Given the description of an element on the screen output the (x, y) to click on. 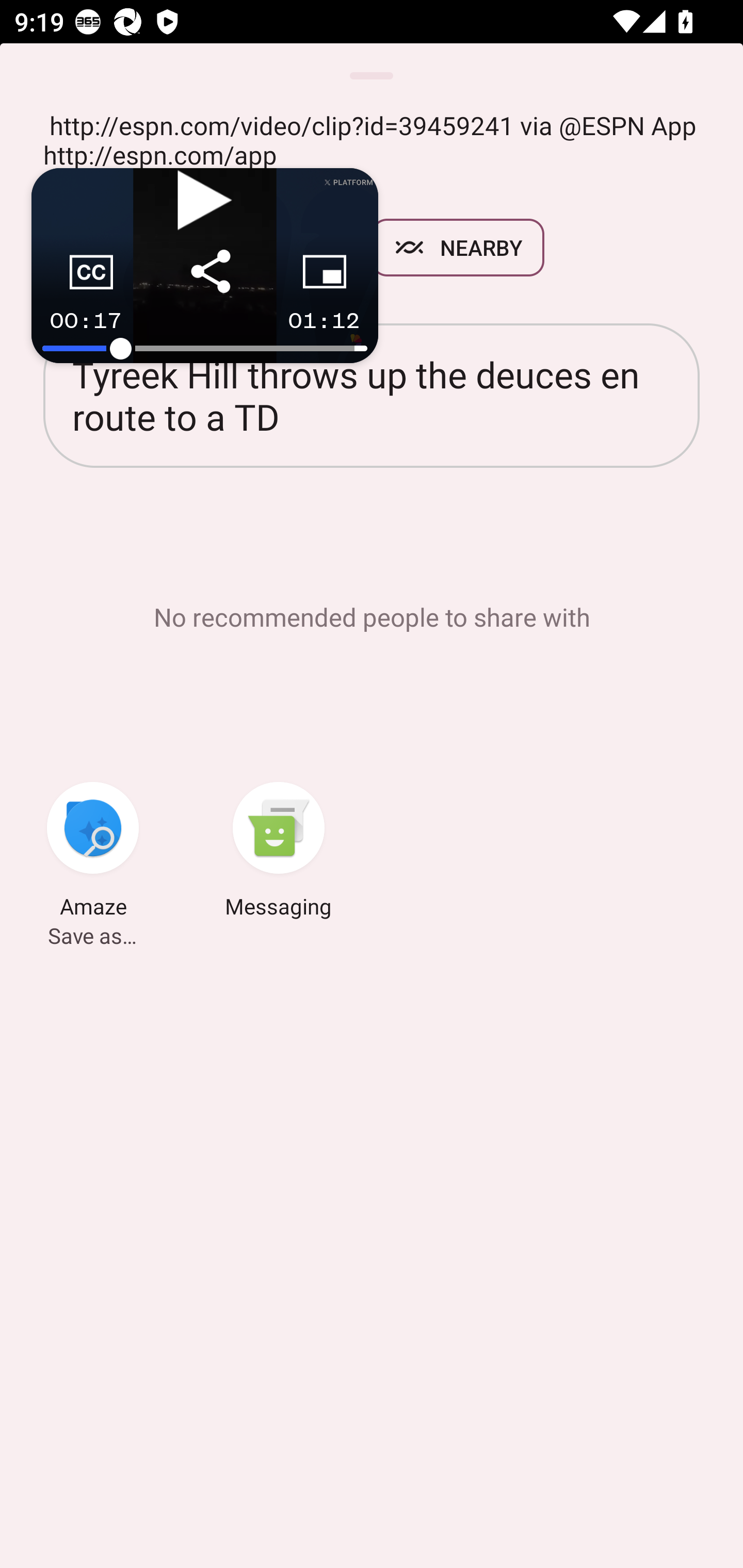
COPY (277, 247)
NEARBY (457, 247)
Amaze Save as… (92, 852)
Messaging (278, 852)
